Given the description of an element on the screen output the (x, y) to click on. 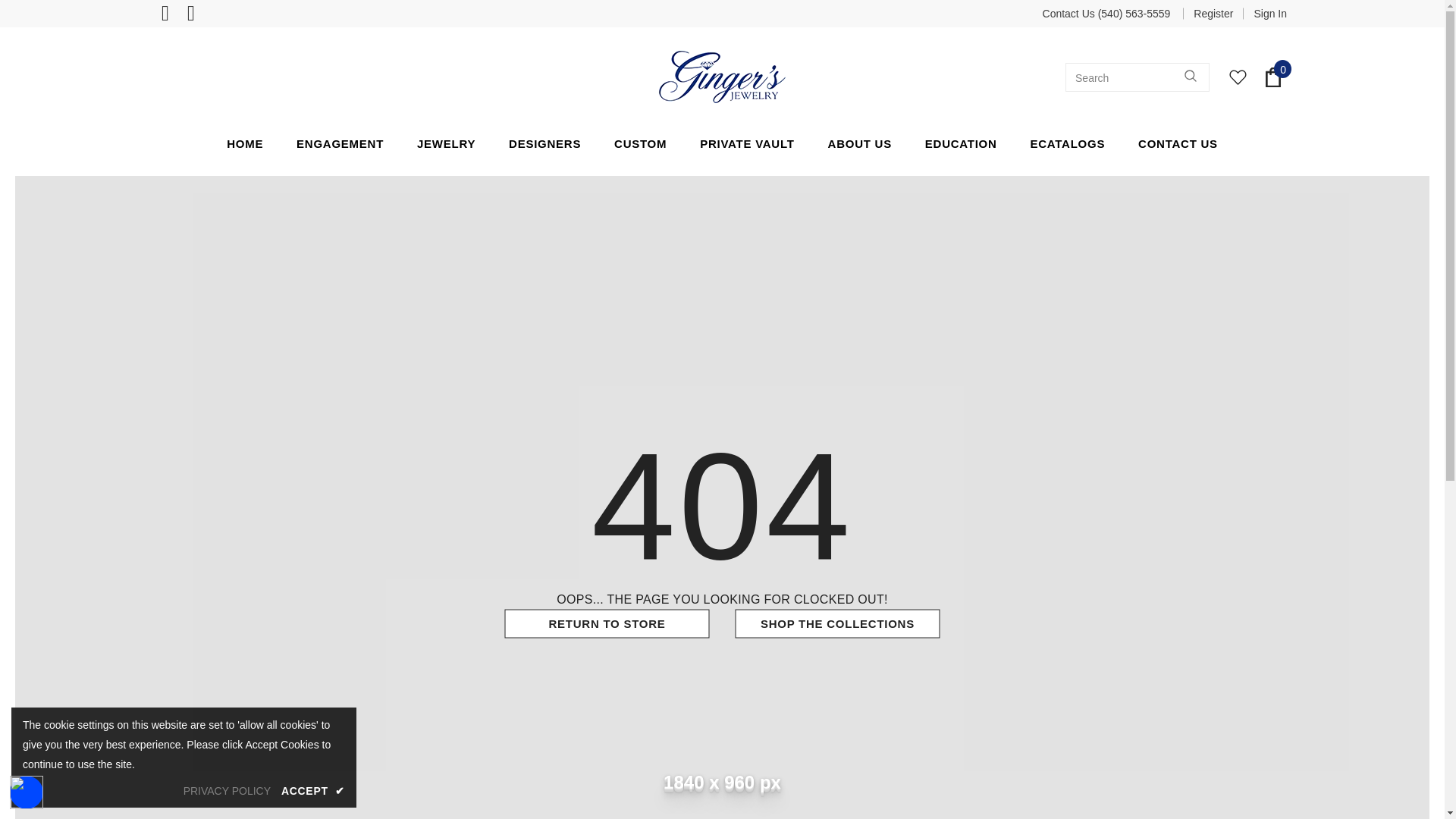
Sign In (1265, 13)
Register (1213, 13)
Accessibility Menu (26, 792)
